Given the description of an element on the screen output the (x, y) to click on. 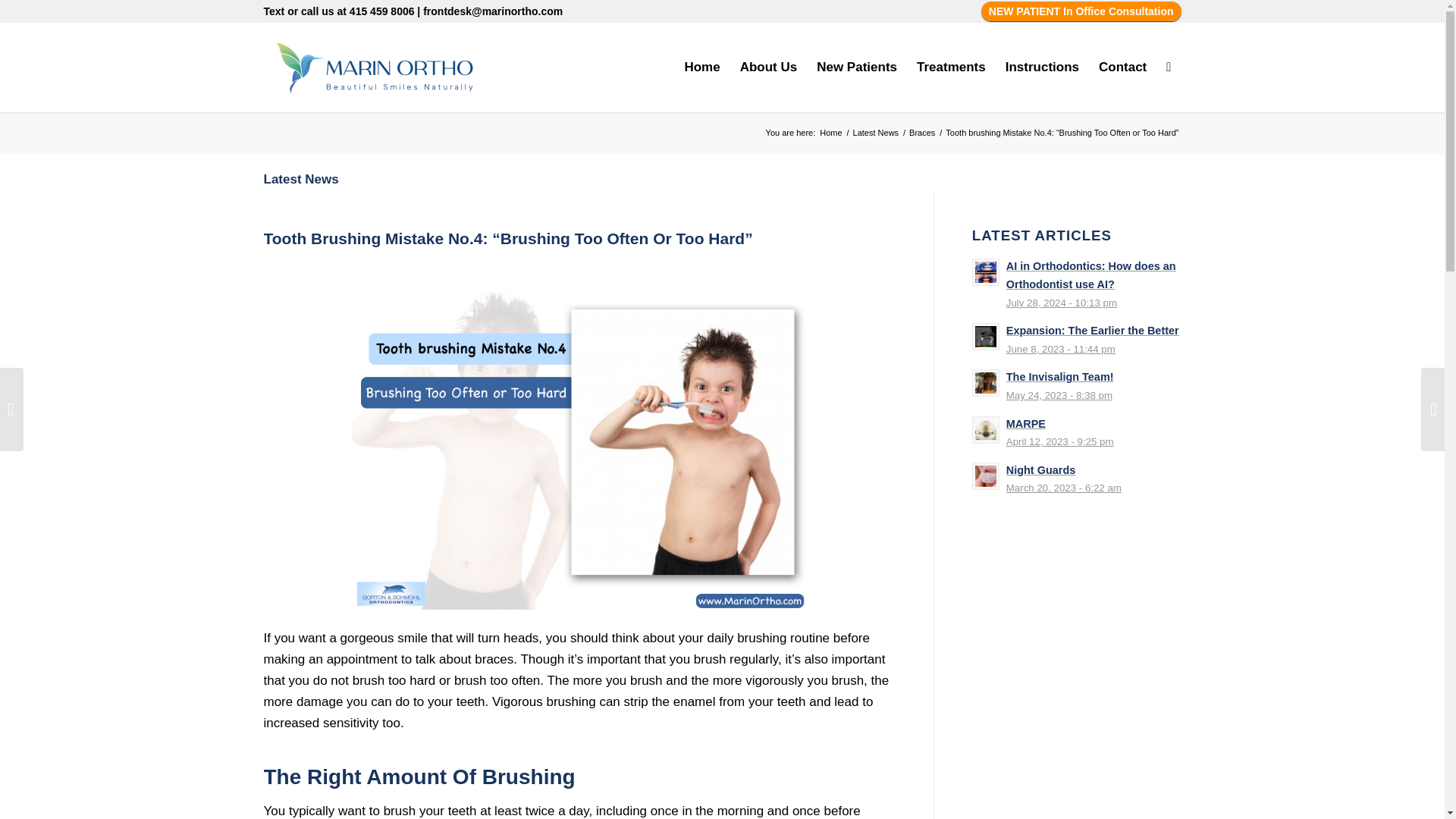
Permanent Link: Latest News (301, 178)
New Patients (856, 67)
Instructions (1042, 67)
Latest News (875, 132)
Treatments (951, 67)
NEW PATIENT In Office Consultation (1080, 11)
415 459 8006 (381, 10)
Marin Ortho (830, 132)
